Given the description of an element on the screen output the (x, y) to click on. 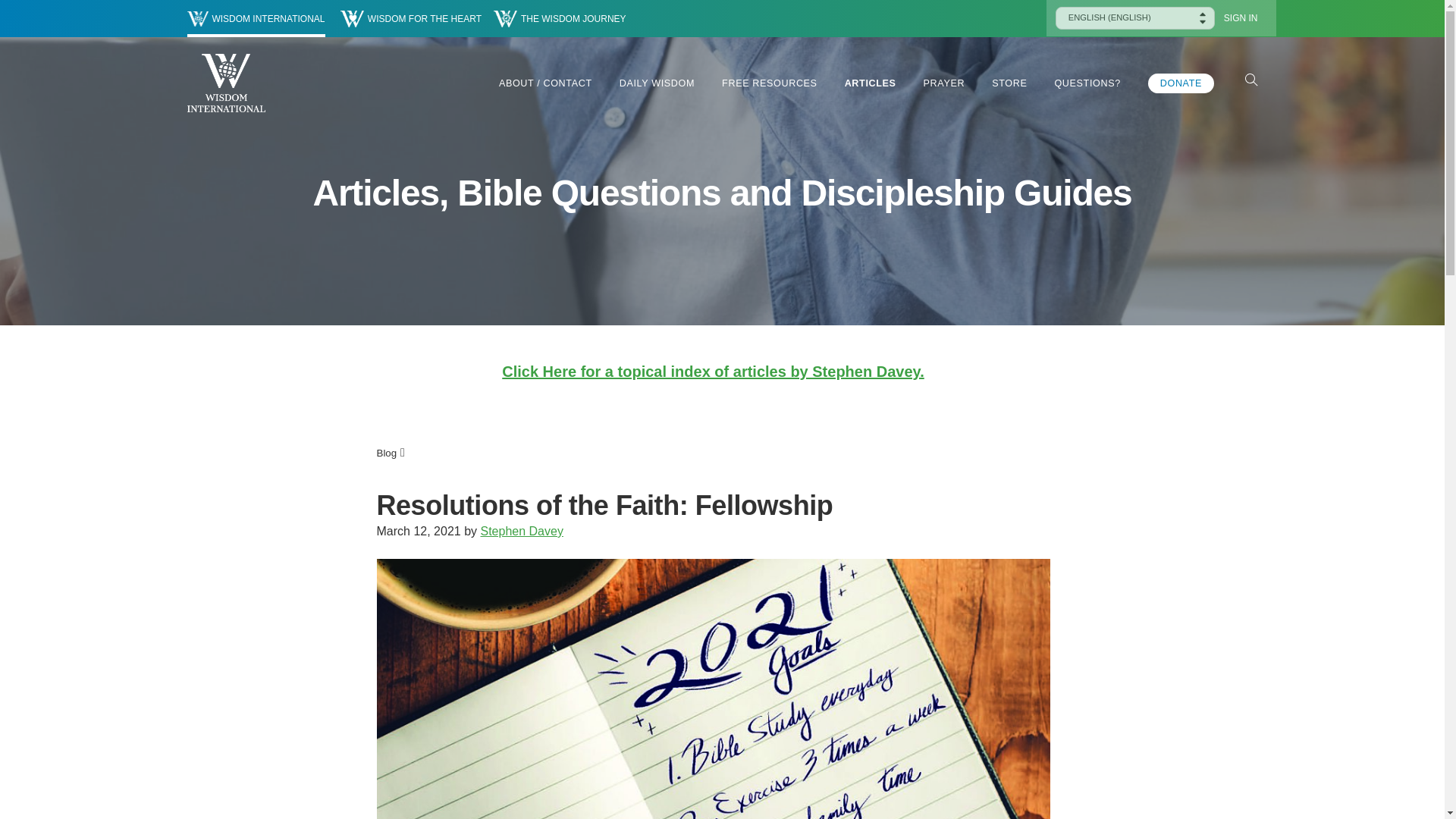
FREE RESOURCES (769, 83)
DONATE (1181, 83)
Stephen Davey (521, 530)
SIGN IN (1240, 18)
Sign In (1240, 18)
QUESTIONS? (1086, 83)
WISDOM FOR THE HEART (410, 18)
WISDOM INTERNATIONAL (255, 18)
Click Here for a topical index of articles by Stephen Davey. (712, 371)
THE WISDOM JOURNEY (559, 18)
